Given the description of an element on the screen output the (x, y) to click on. 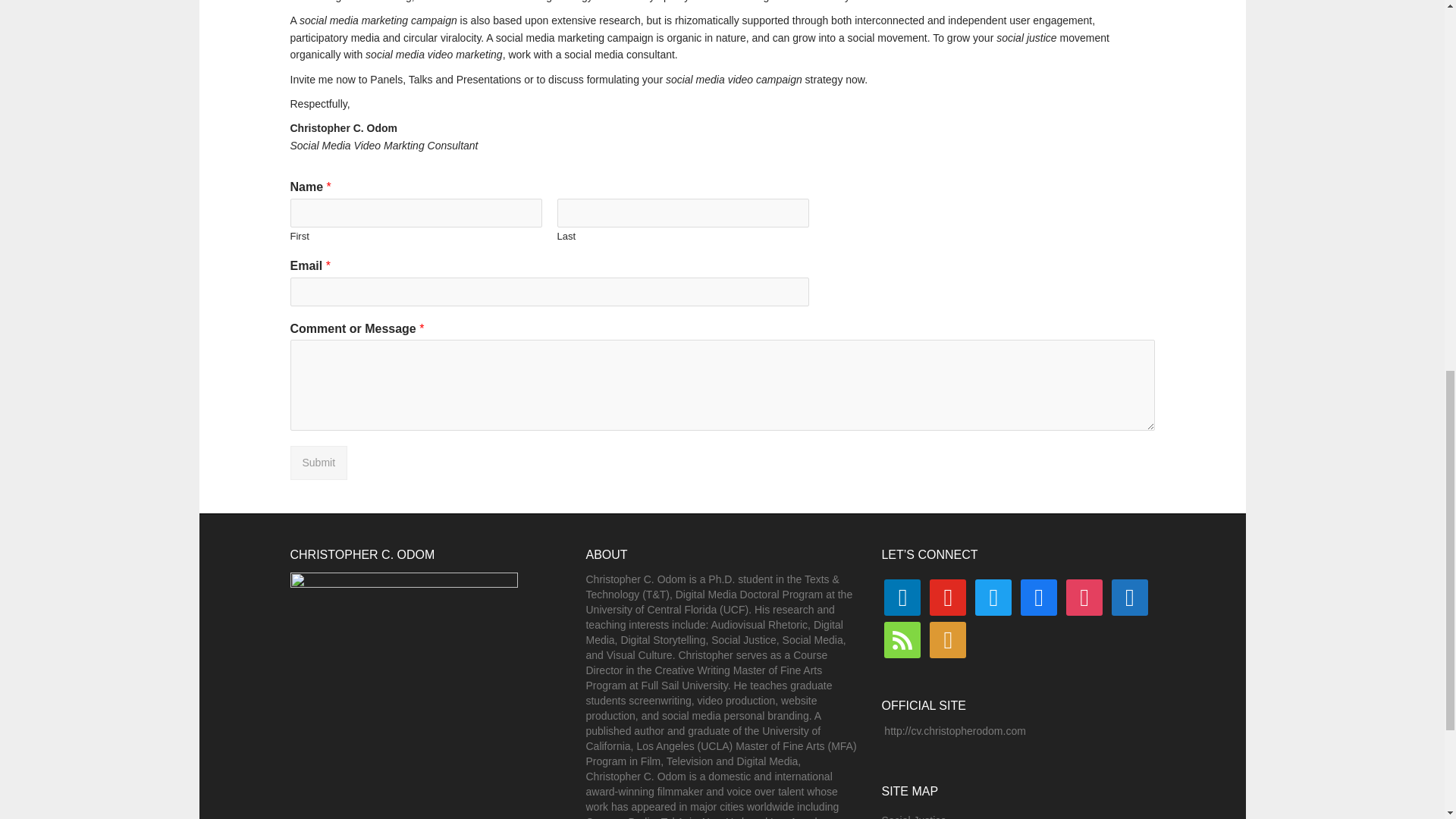
facebook (1038, 596)
Default Label (948, 639)
Facebook (1038, 596)
youtube (948, 596)
linkedin (901, 596)
rss (901, 639)
Social Justice (913, 816)
Default Label (948, 596)
Default Label (1130, 596)
Default Label (901, 639)
